Given the description of an element on the screen output the (x, y) to click on. 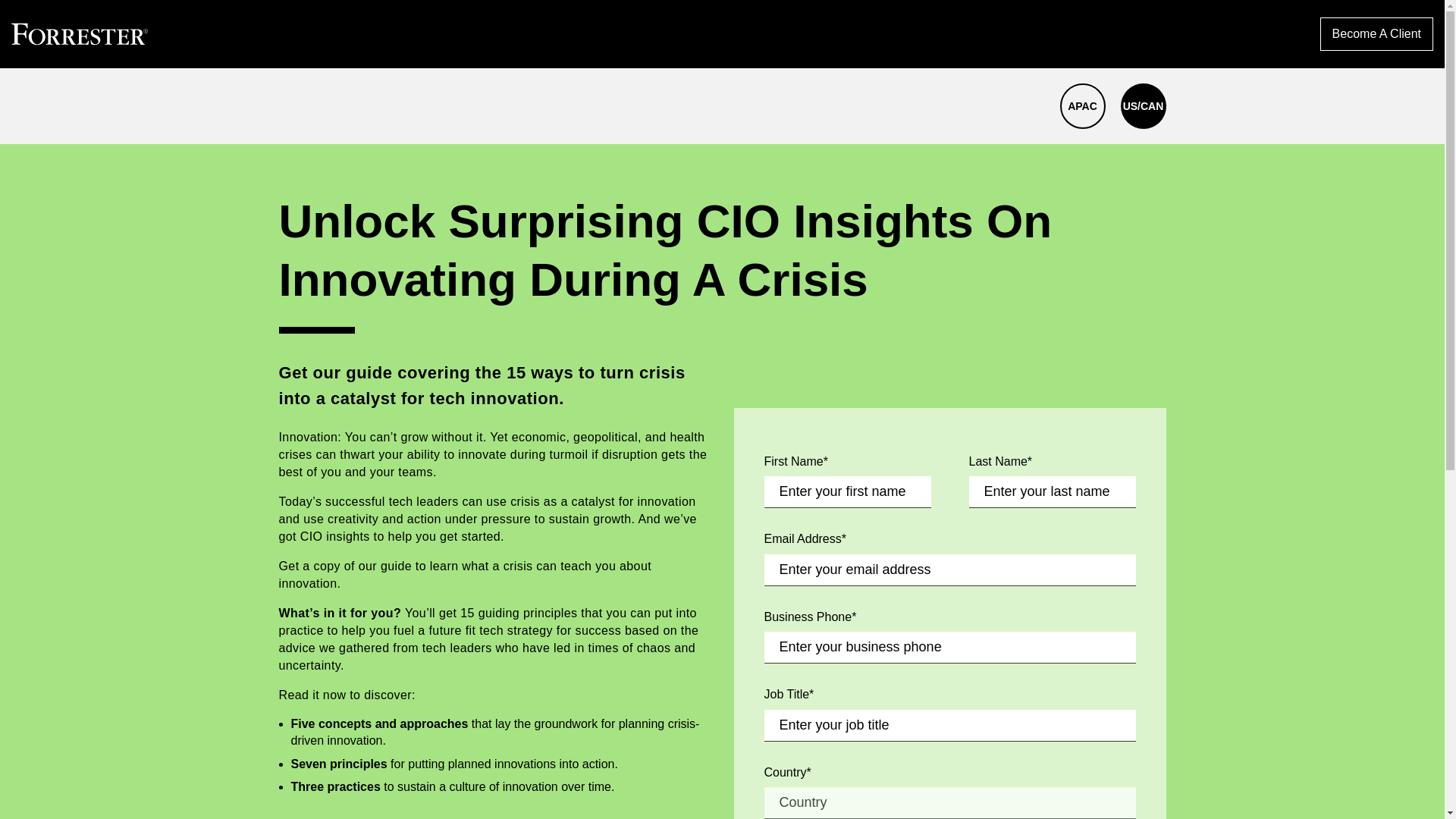
APAC (1082, 105)
Become A Client (1376, 33)
